Given the description of an element on the screen output the (x, y) to click on. 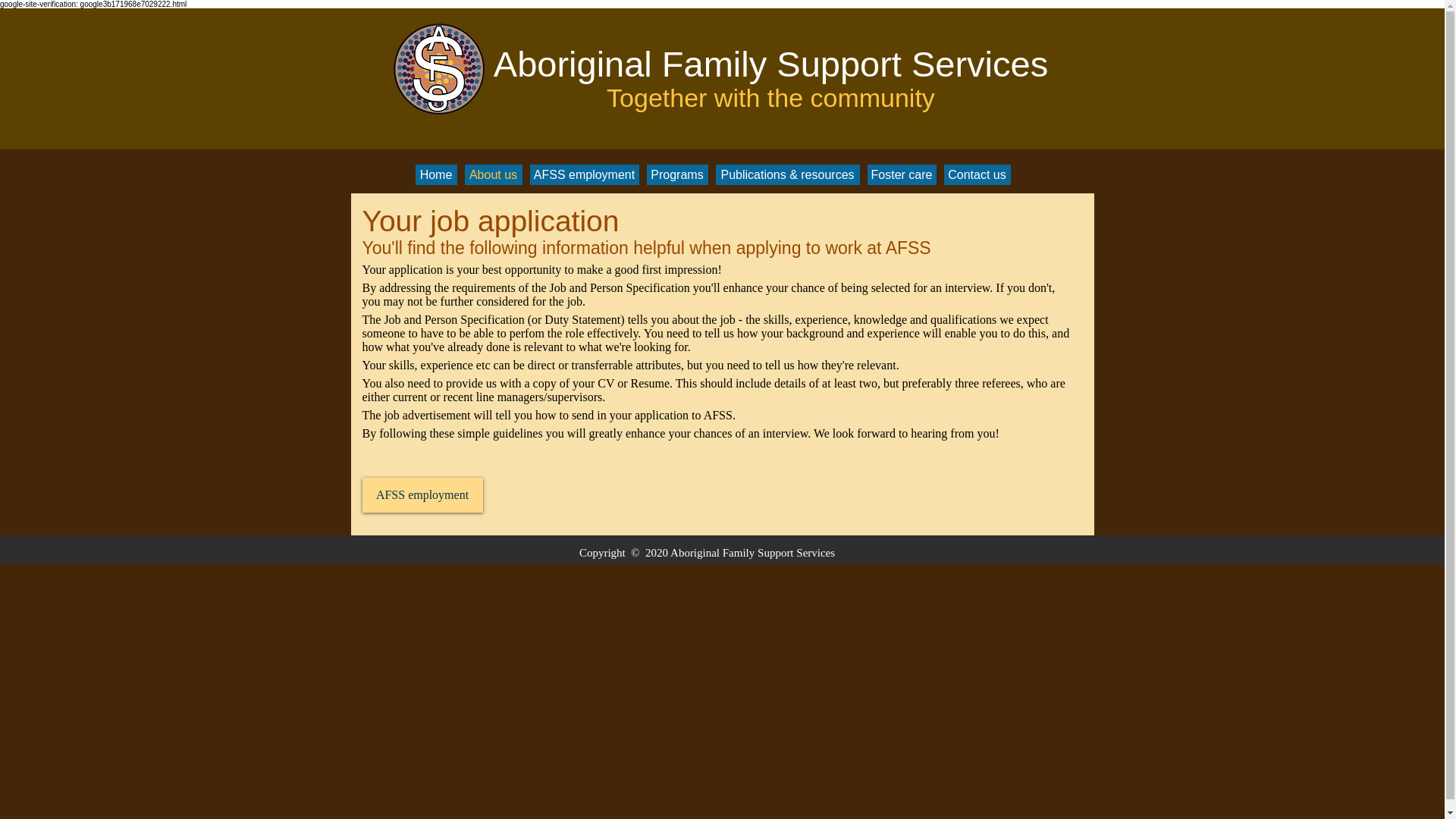
AFSS employment (584, 174)
Foster care (901, 174)
About us (492, 174)
Programs (676, 174)
Home (435, 174)
AFSS employment (422, 494)
